Given the description of an element on the screen output the (x, y) to click on. 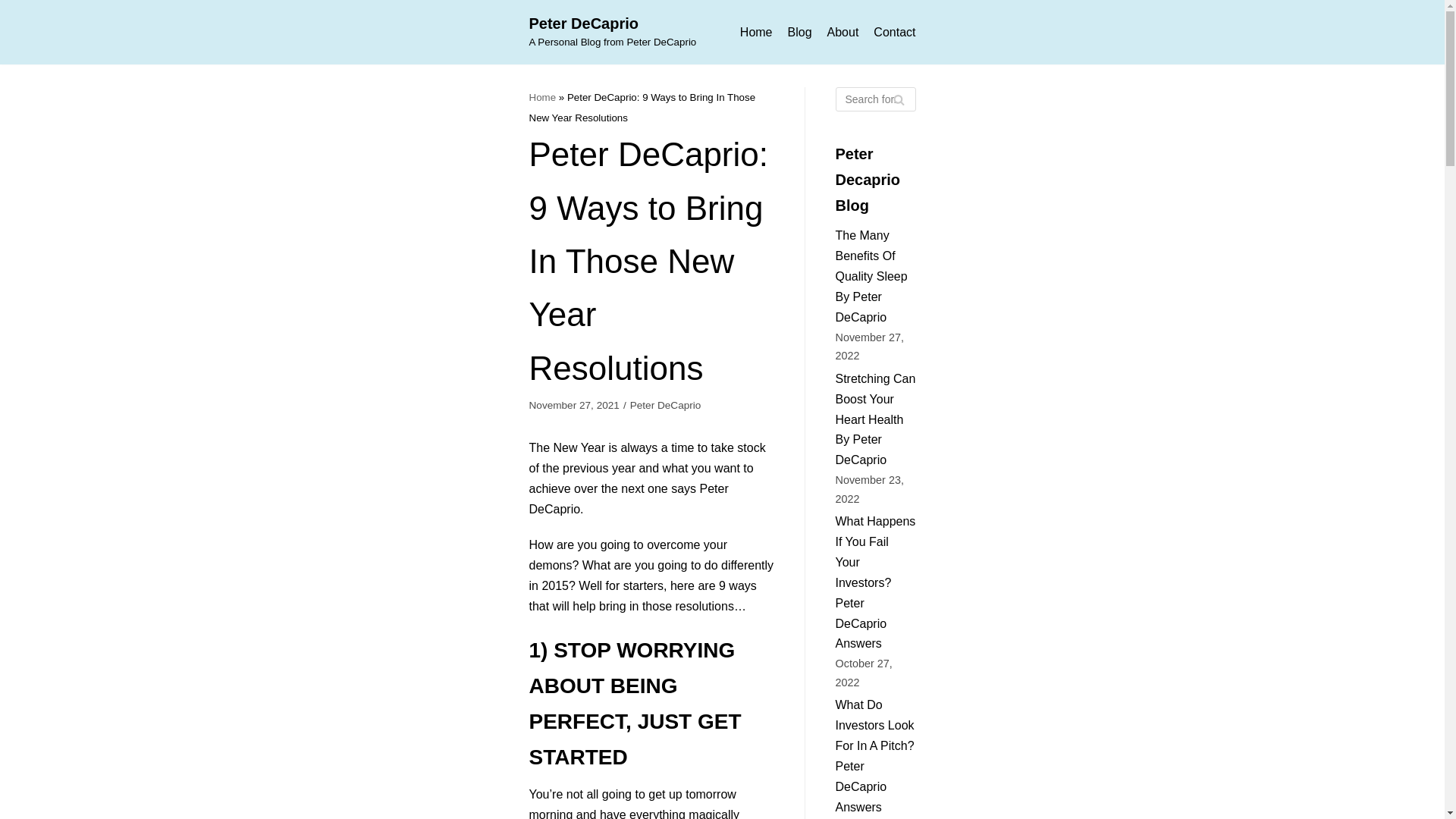
Contact (613, 31)
Peter DeCaprio (894, 32)
Blog (613, 31)
Home (799, 32)
Peter DeCaprio (542, 97)
Skip to content (665, 405)
Home (15, 7)
About (756, 32)
